Given the description of an element on the screen output the (x, y) to click on. 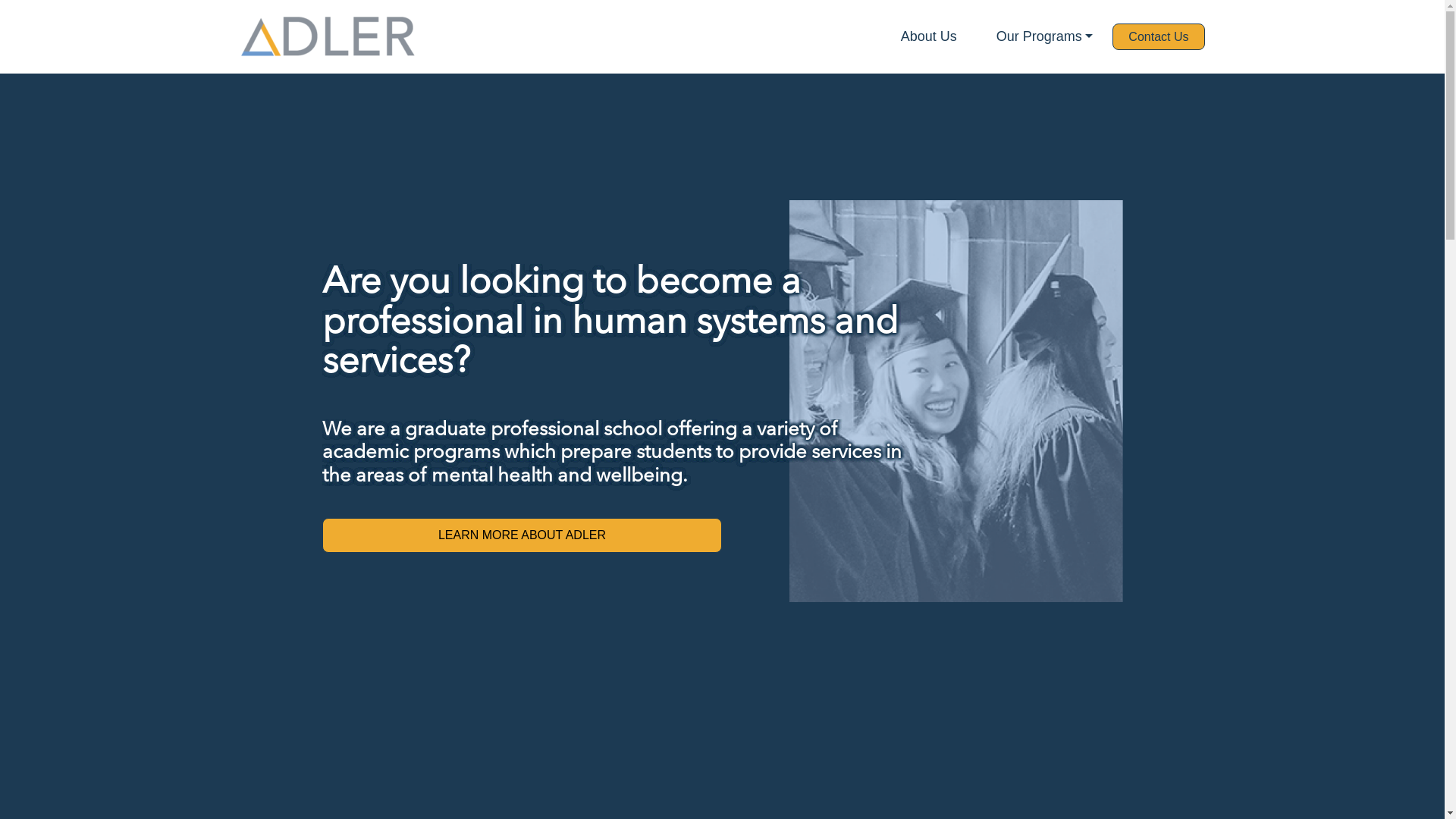
LEARN MORE ABOUT ADLER Element type: text (521, 534)
About Us Element type: text (928, 36)
Our Programs Element type: text (1044, 36)
Contact Us Element type: text (1158, 37)
